Given the description of an element on the screen output the (x, y) to click on. 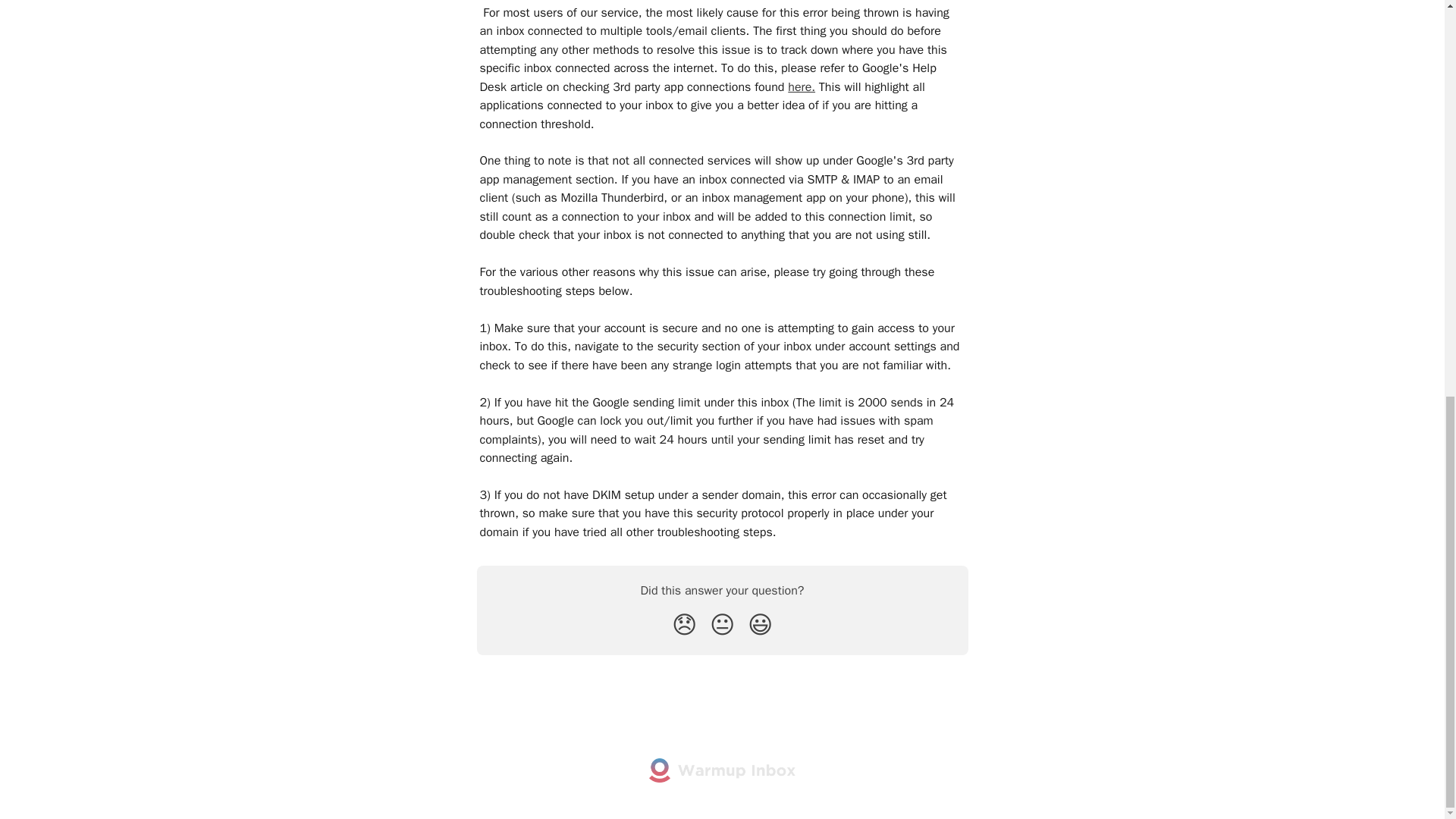
here. (801, 87)
